Given the description of an element on the screen output the (x, y) to click on. 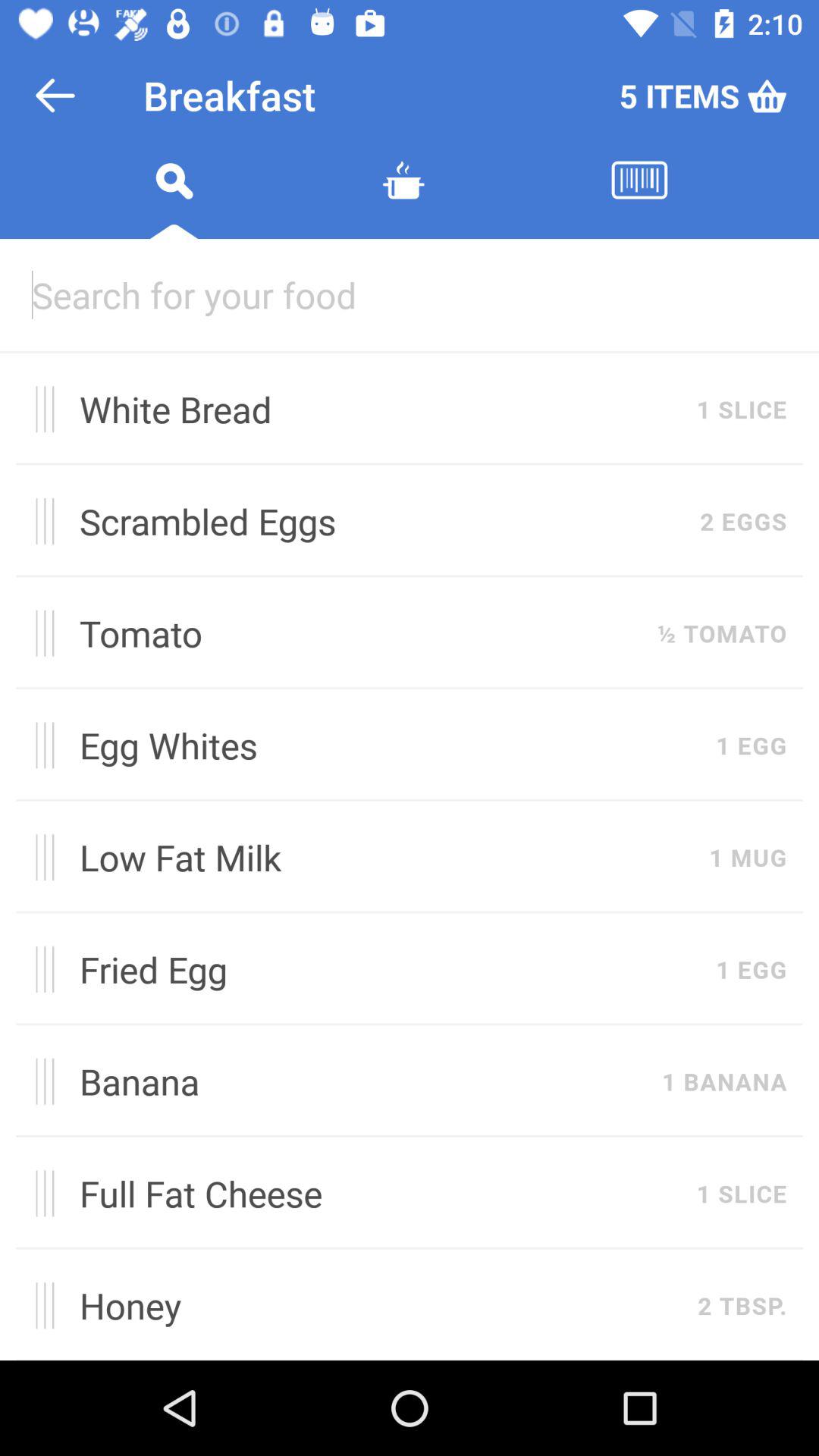
open the item to the left of breakfast (55, 95)
